Given the description of an element on the screen output the (x, y) to click on. 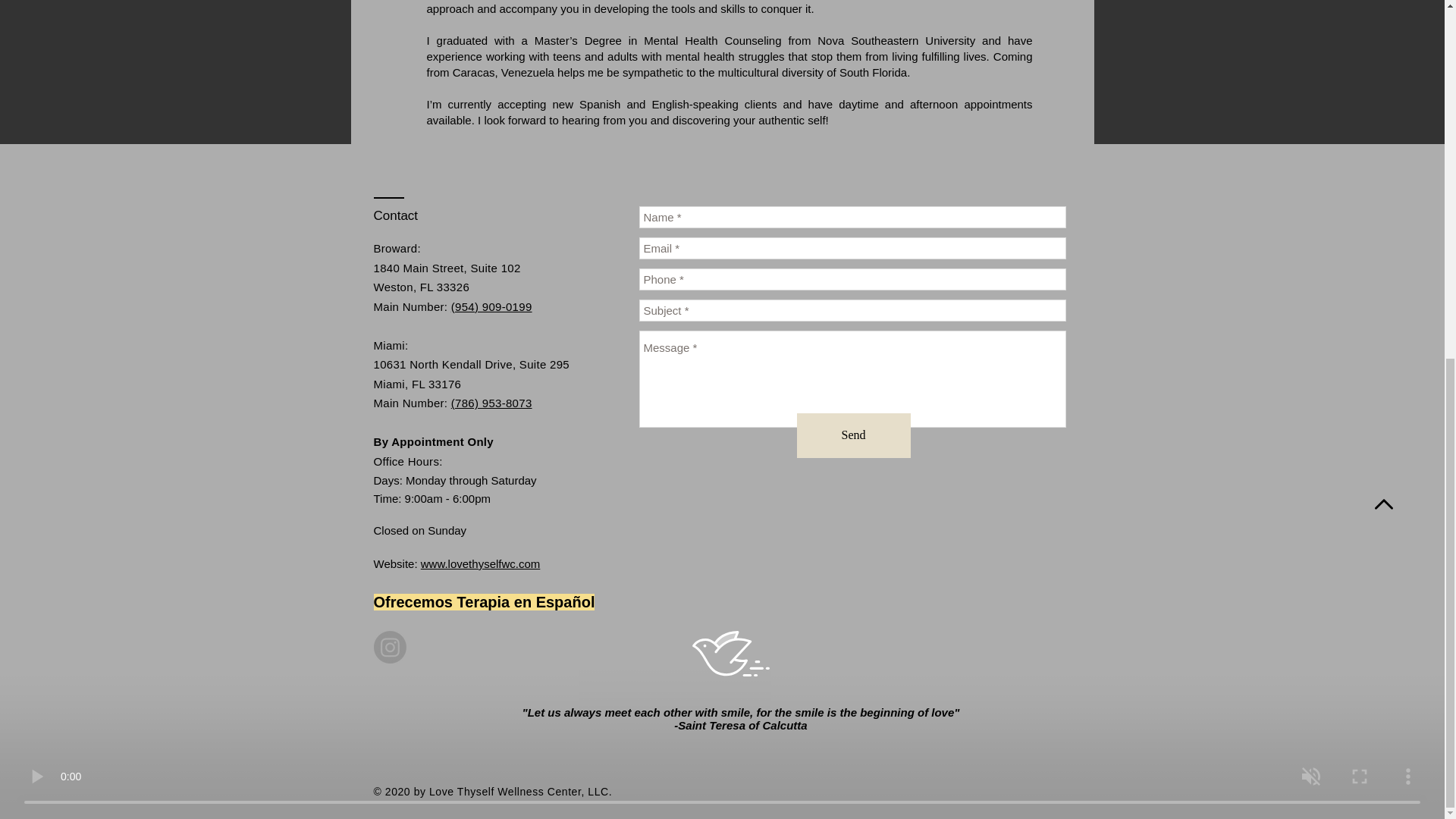
Main Number: (410, 305)
Send (853, 435)
www.lovethyselfwc.com (480, 563)
